Given the description of an element on the screen output the (x, y) to click on. 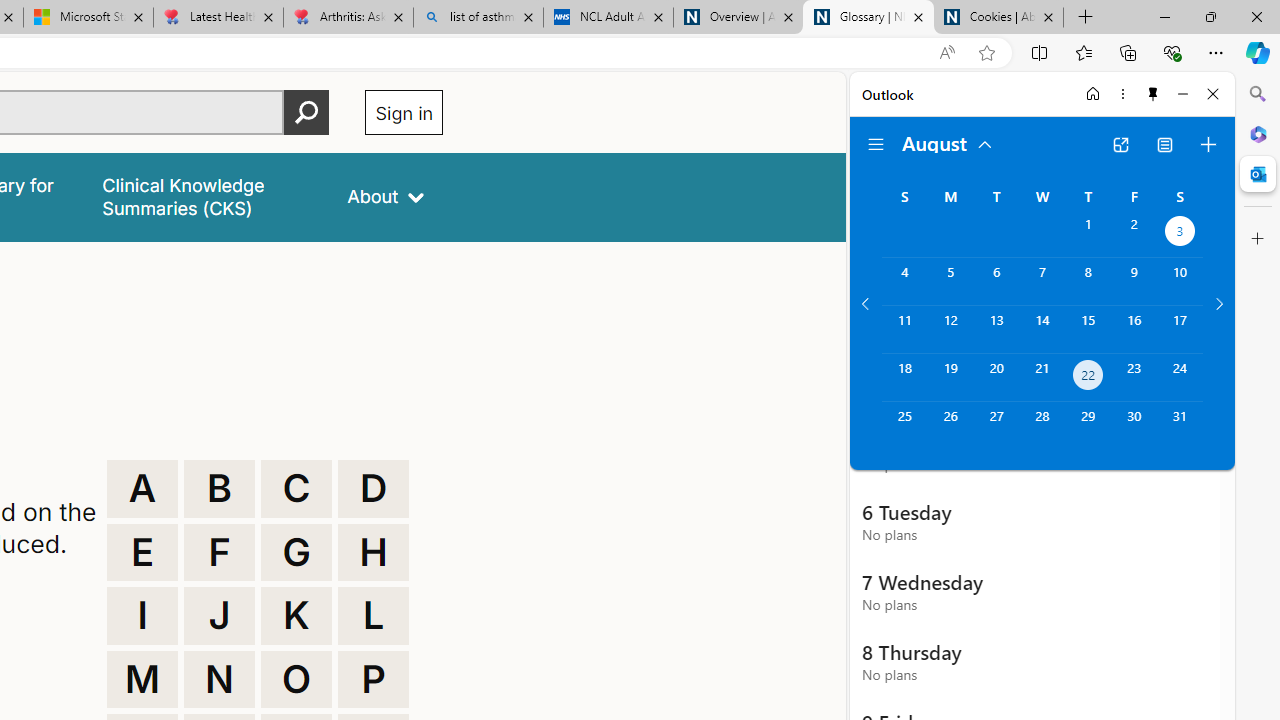
Folder navigation (876, 144)
Thursday, August 8, 2024.  (1088, 281)
Saturday, August 10, 2024.  (1180, 281)
C (296, 488)
L (373, 615)
E (142, 551)
Sunday, August 11, 2024.  (904, 329)
L (373, 615)
A (142, 488)
Monday, August 5, 2024.  (950, 281)
